Given the description of an element on the screen output the (x, y) to click on. 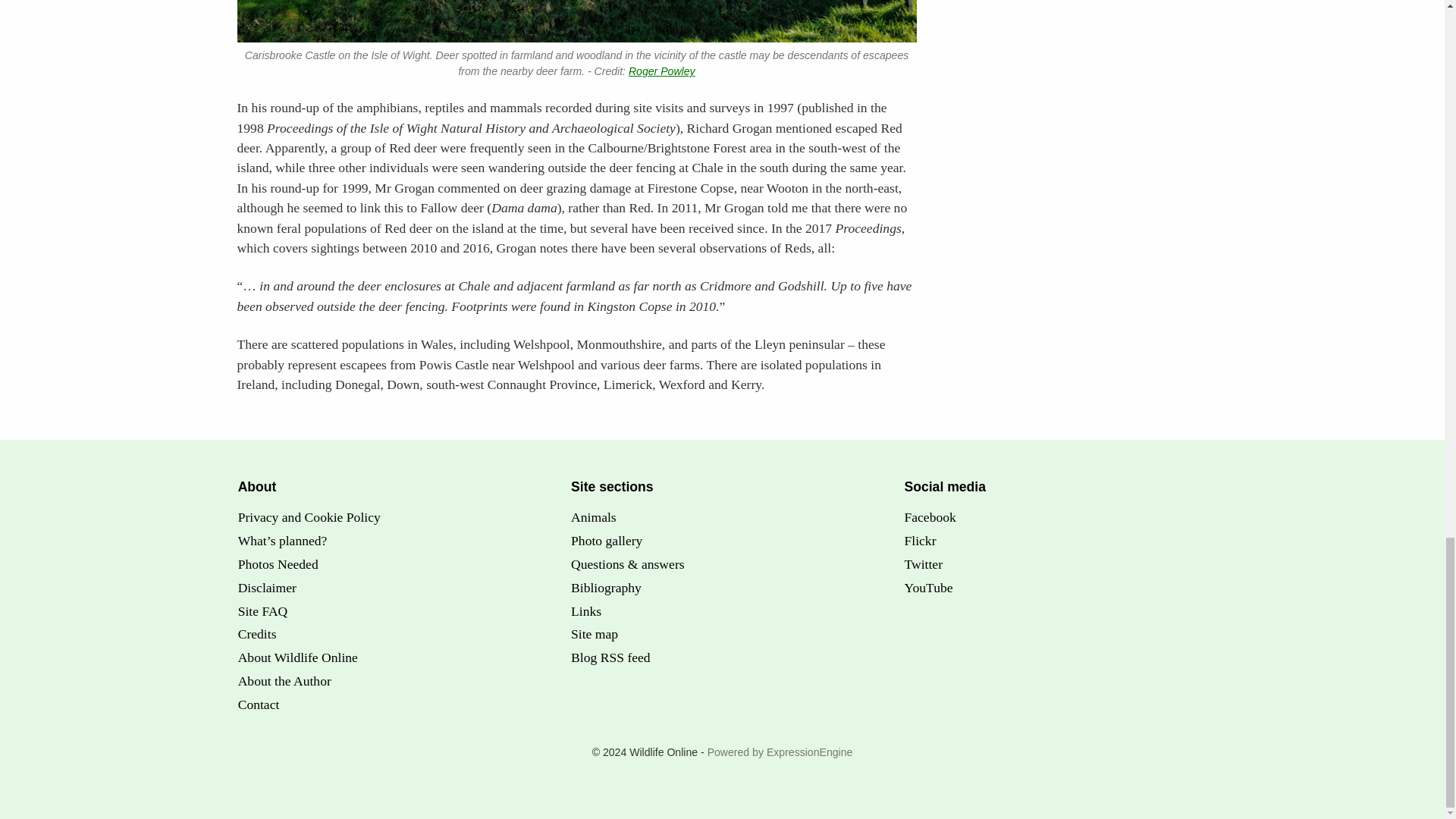
Roger Powley (661, 70)
Site FAQ (263, 611)
Disclaimer (267, 587)
Privacy and Cookie Policy (309, 516)
Photos Needed (278, 563)
